Given the description of an element on the screen output the (x, y) to click on. 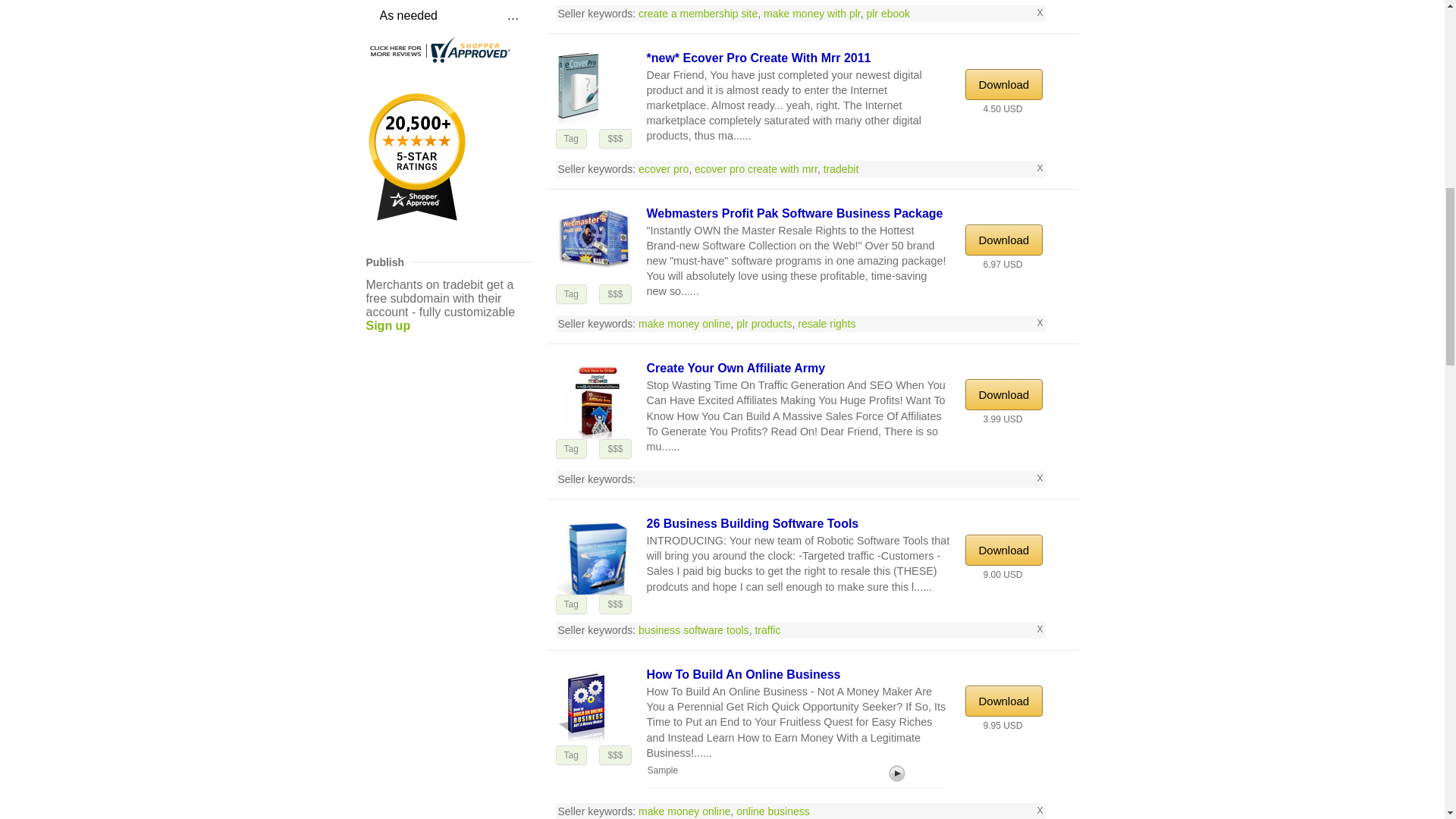
play: How To Build An Online Business (896, 773)
Thumbnail Create Your Own Affiliate Army (592, 400)
Thumbnail Webmasters Profit Pak Software Business Package (592, 238)
Sign up (387, 324)
